Given the description of an element on the screen output the (x, y) to click on. 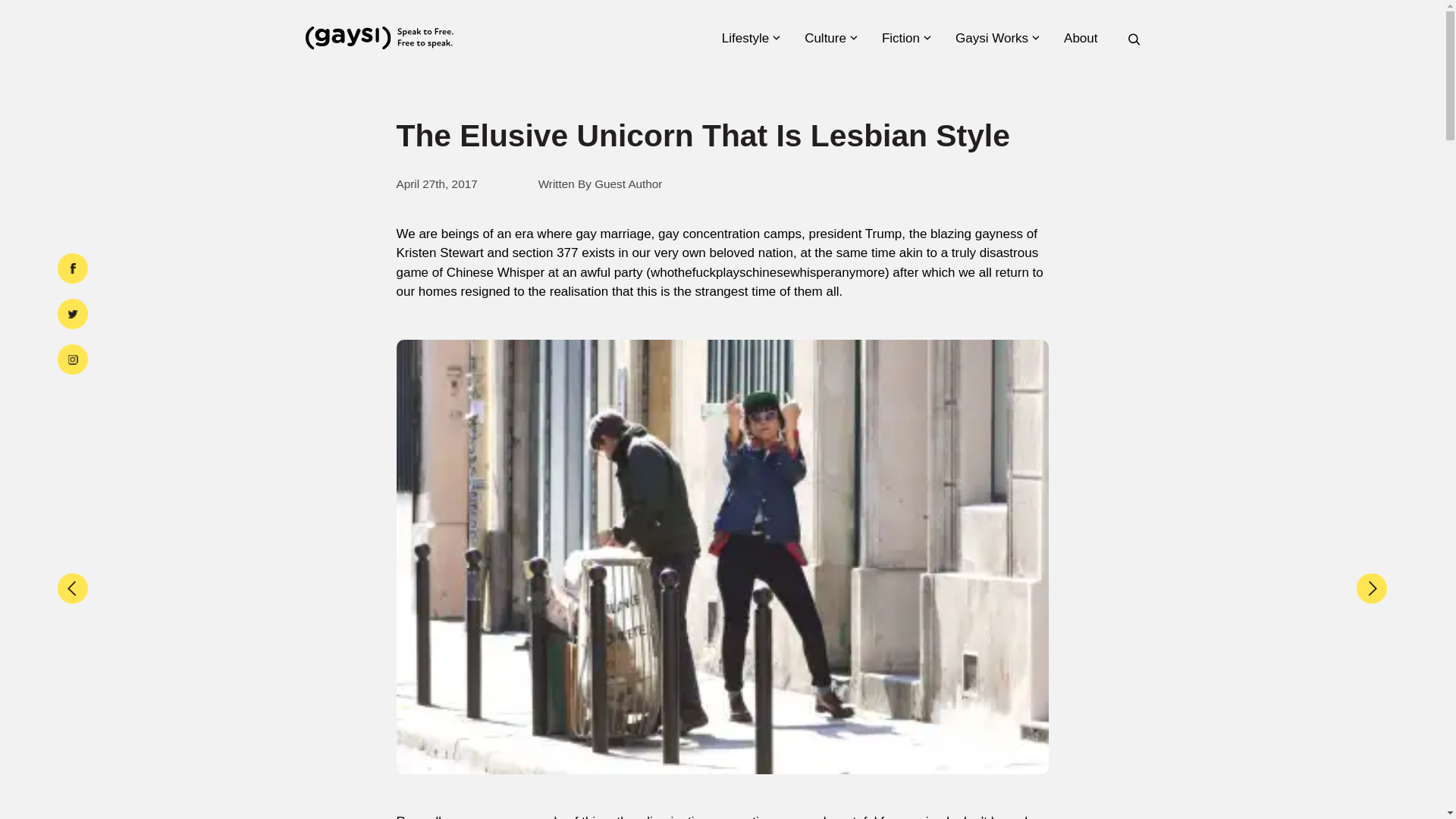
Search (1122, 414)
Gaysi Works (996, 38)
About (1085, 38)
Click to share this post on Twitter (72, 313)
Culture (830, 38)
Lifestyle (750, 38)
Fiction (905, 38)
